Given the description of an element on the screen output the (x, y) to click on. 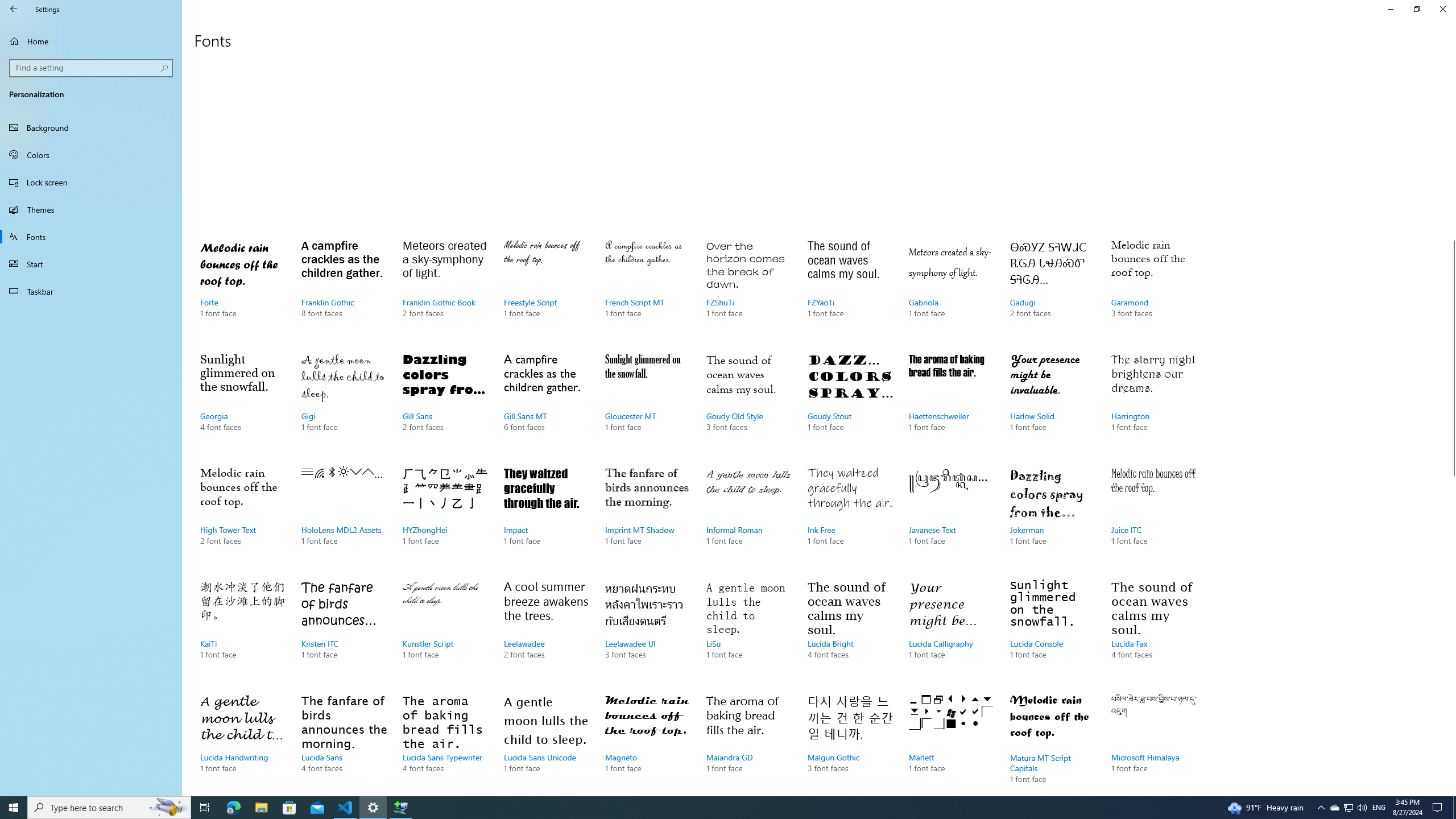
Garamond, 3 font faces (1153, 290)
Restore Settings (1416, 9)
Vertical Large Decrease (1451, 151)
Notification Chevron (1320, 807)
Imprint MT Shadow, 1 font face (647, 517)
Franklin Gothic, 8 font faces (343, 290)
Lucida Fax, 4 font faces (1153, 630)
HYZhongHei, 1 font face (445, 517)
Lucida Handwriting, 1 font face (243, 741)
Javanese Text, 1 font face (951, 517)
Kristen ITC, 1 font face (1333, 807)
Harlow Solid, 1 font face (343, 630)
